Given the description of an element on the screen output the (x, y) to click on. 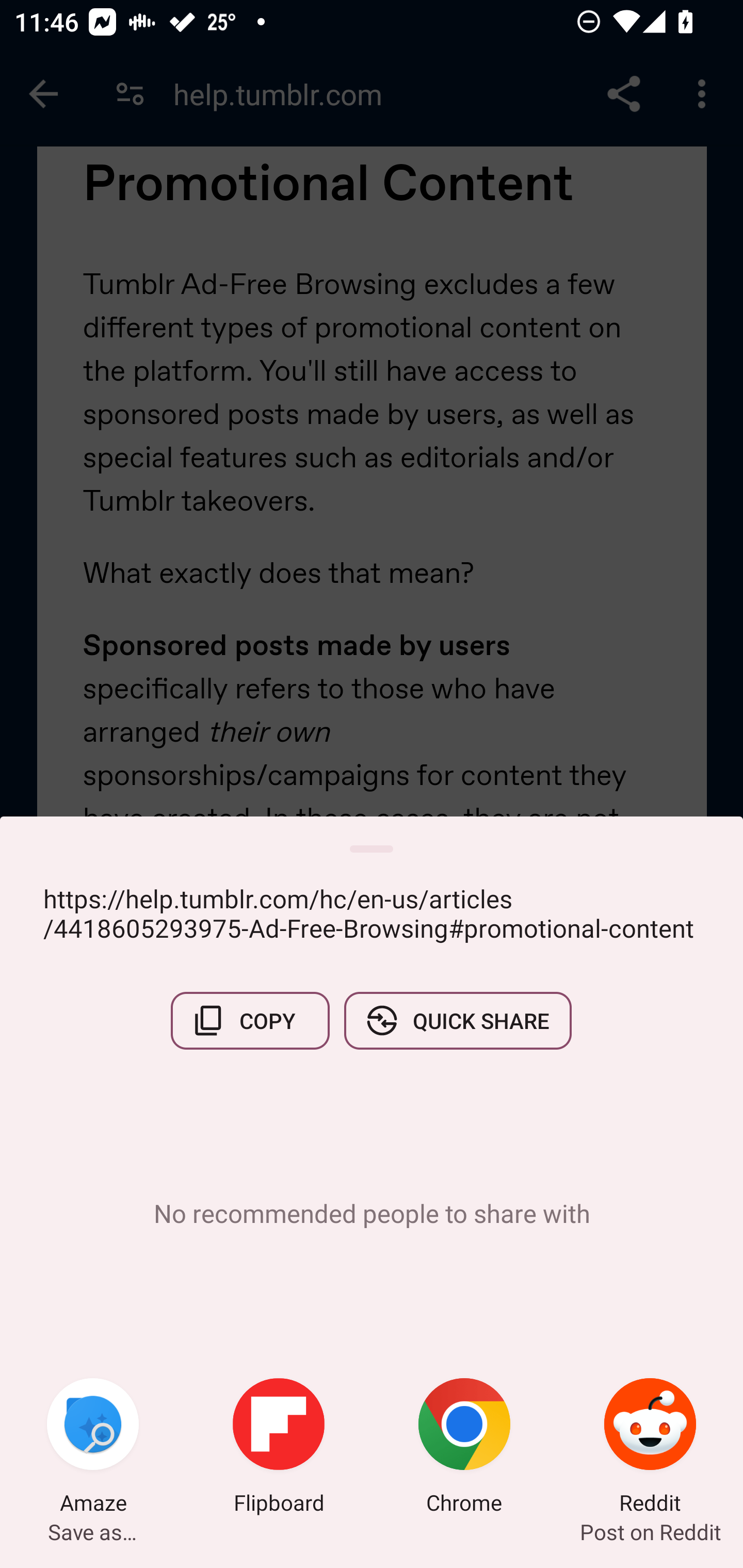
COPY (249, 1020)
QUICK SHARE (457, 1020)
Amaze Save as… (92, 1448)
Flipboard (278, 1448)
Chrome (464, 1448)
Reddit Post on Reddit (650, 1448)
